Given the description of an element on the screen output the (x, y) to click on. 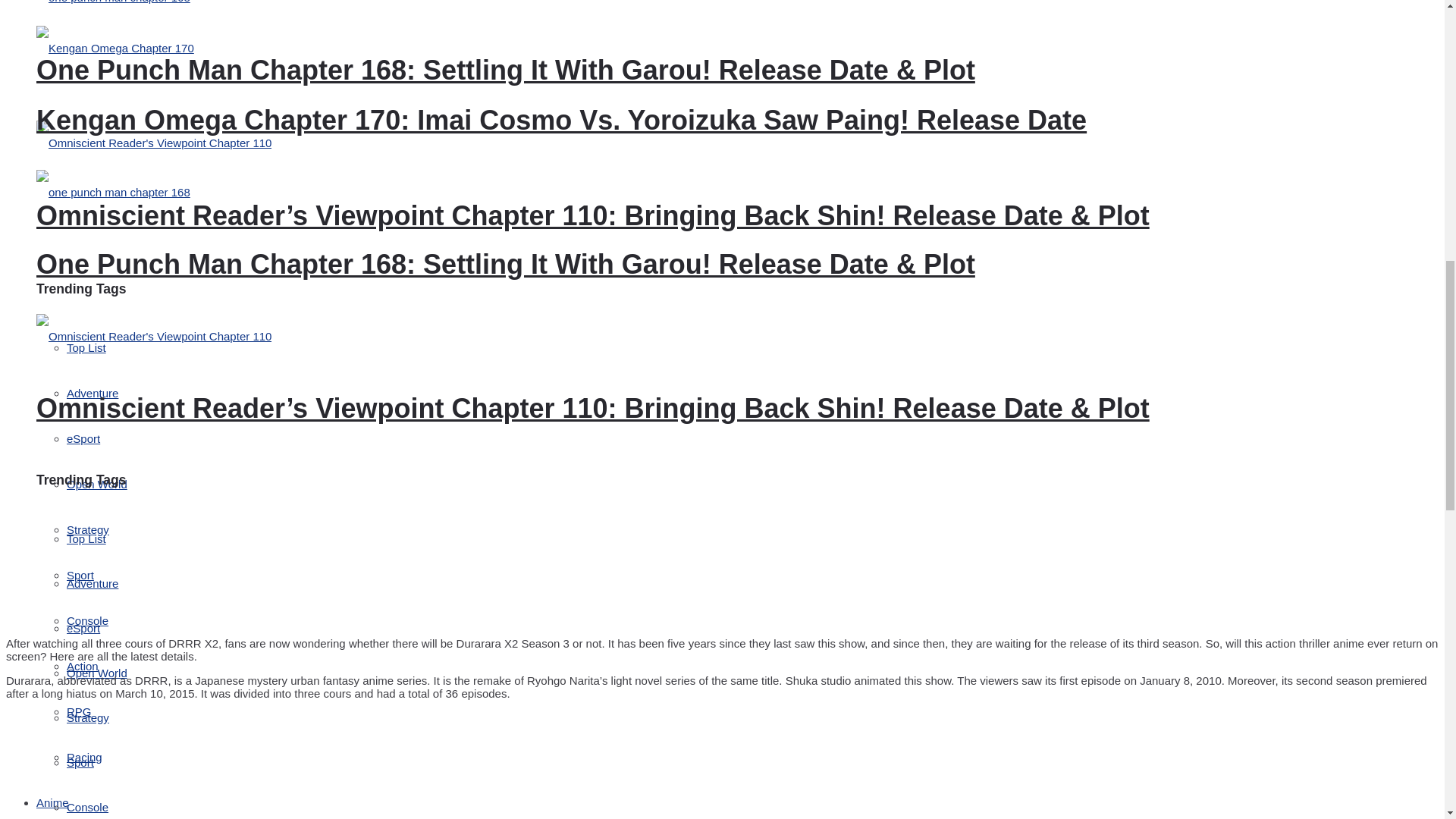
Anime (52, 802)
Strategy (87, 529)
Action (82, 666)
Open World (97, 483)
Adventure (91, 392)
eSport (83, 438)
Racing (83, 757)
RPG (78, 711)
Top List (86, 347)
Console (86, 620)
